Given the description of an element on the screen output the (x, y) to click on. 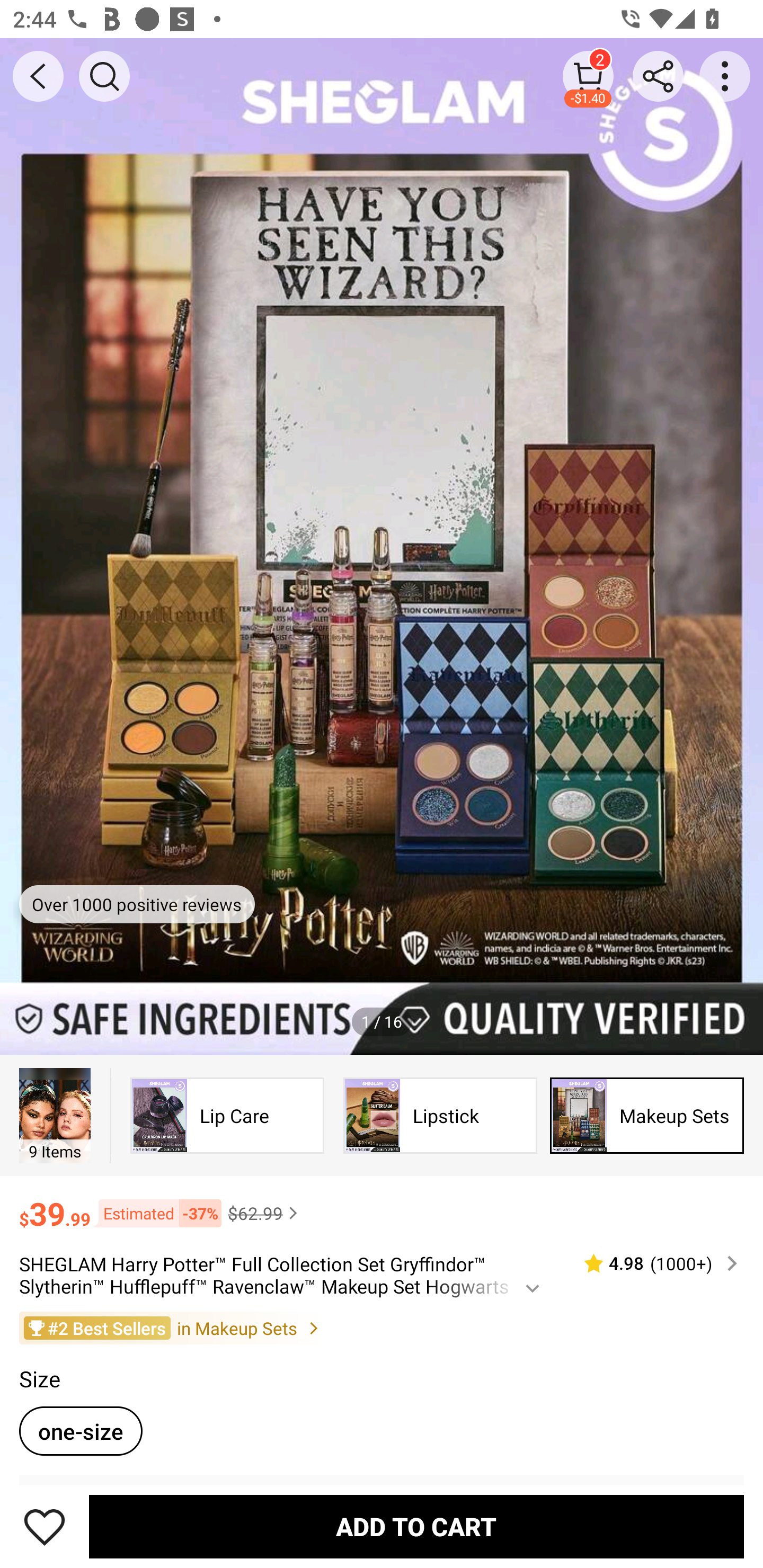
BACK (38, 75)
2 -$1.40 (588, 75)
1 / 16 (381, 1021)
Lip Care (227, 1115)
Lipstick (440, 1115)
Makeup Sets (646, 1115)
$39.99 Estimated -37% $62.99 (381, 1205)
Estimated -37% (155, 1213)
$62.99 (265, 1212)
4.98 (1000‎+) (653, 1263)
#2 Best Sellers in Makeup Sets (381, 1326)
Size (39, 1378)
one-size one-sizeselected option (80, 1430)
ADD TO CART (416, 1526)
Save (44, 1526)
